Given the description of an element on the screen output the (x, y) to click on. 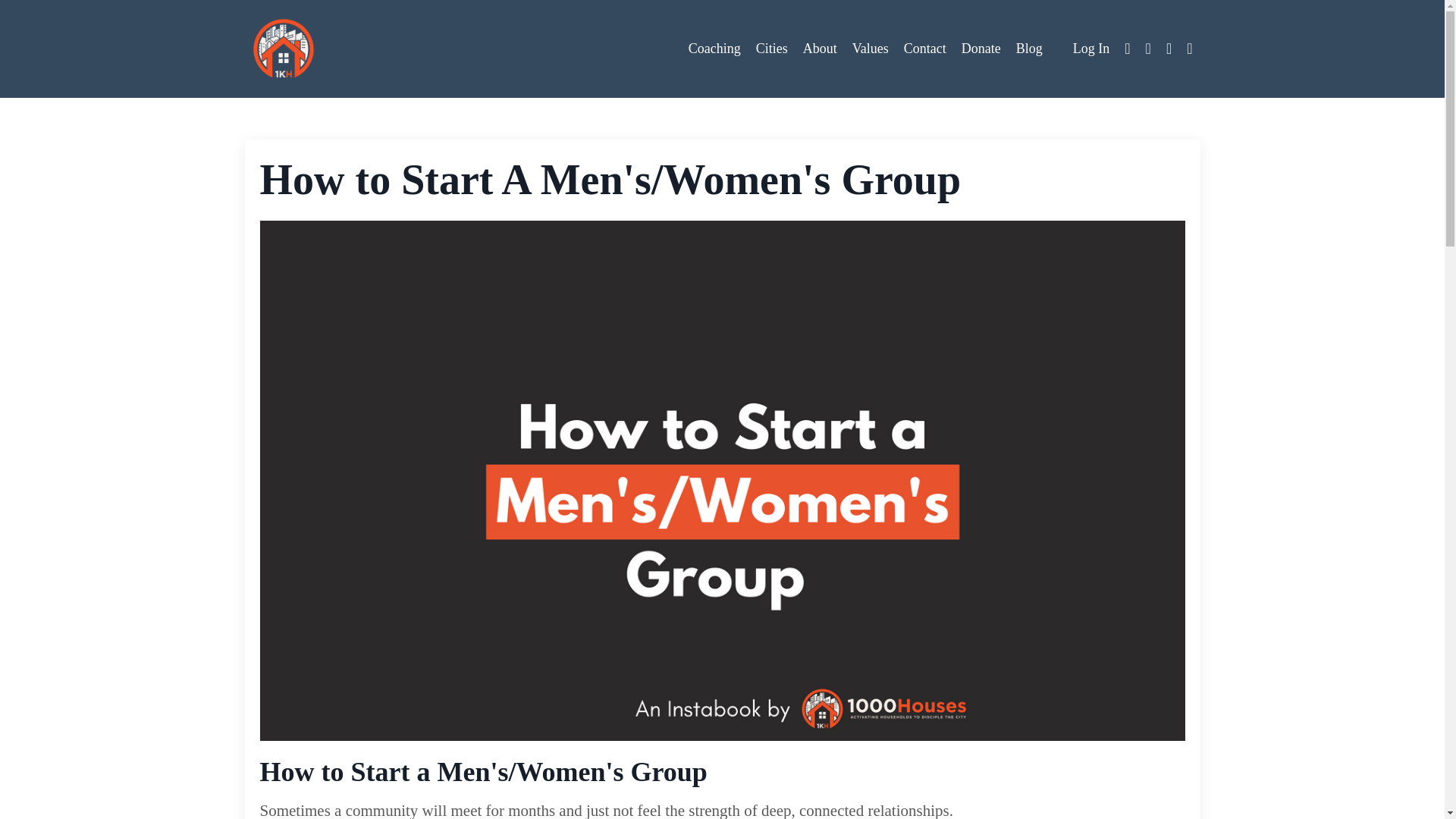
Log In (1091, 48)
Coaching (714, 48)
Cities (771, 48)
Values (869, 48)
Donate (980, 48)
Blog (1029, 48)
Contact (925, 48)
About (820, 48)
